Given the description of an element on the screen output the (x, y) to click on. 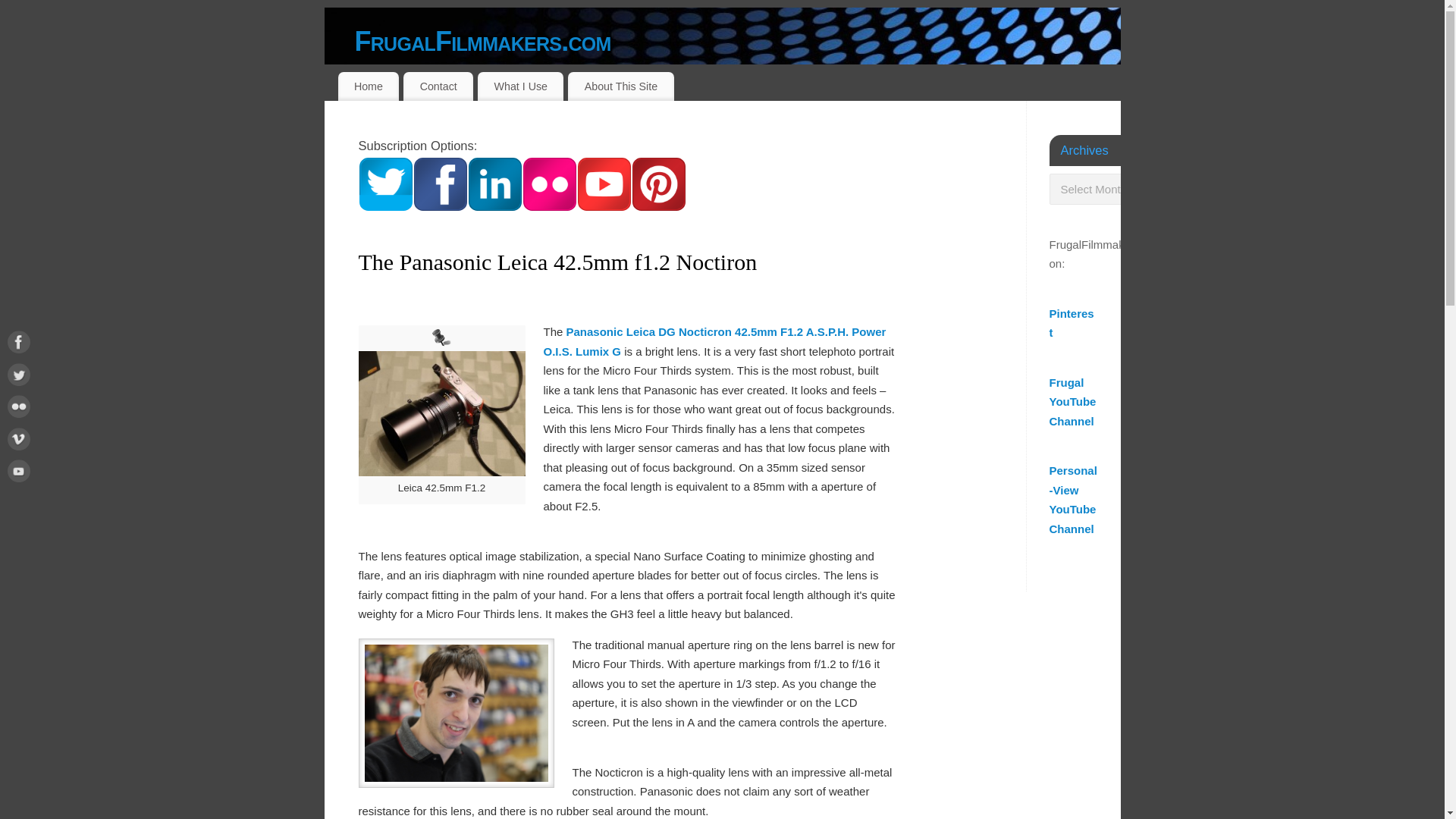
Subscribe via Pinterest (657, 206)
Subscribe via Flickr (548, 206)
Subscribe via LinkedIn (494, 206)
Contact (438, 86)
Frugal YouTube Channel (1072, 401)
Subscribe via Facebook (439, 206)
Subscribe via YouTube (603, 206)
FrugalFilmmakers.com (738, 41)
About This Site (619, 86)
